Given the description of an element on the screen output the (x, y) to click on. 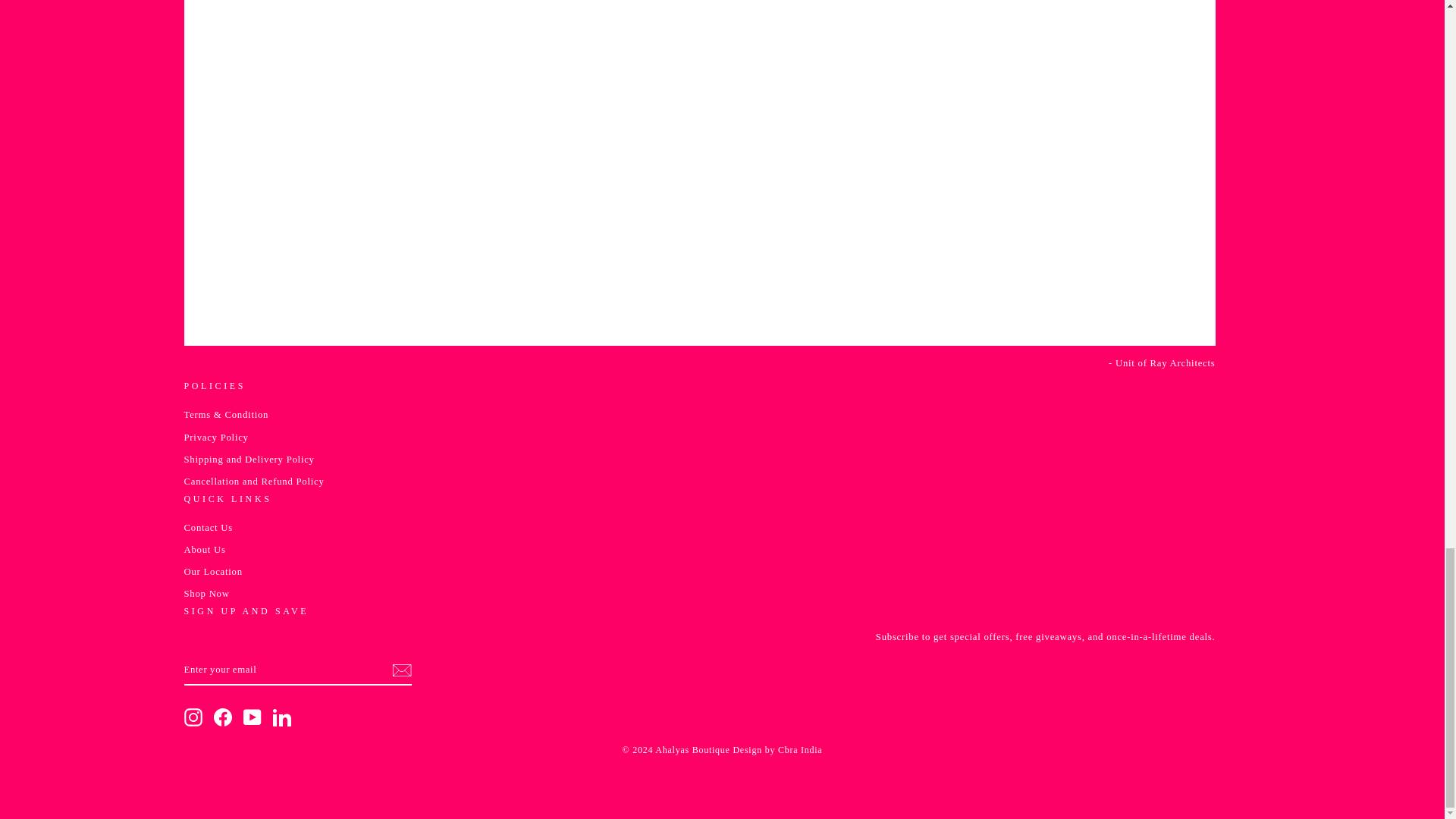
instagram (192, 717)
Ahalyas Boutique on LinkedIn (282, 717)
Ahalyas Boutique on Facebook (222, 717)
icon-email (400, 669)
Ahalyas Boutique on YouTube (251, 717)
Ahalyas Boutique on Instagram (192, 717)
